Given the description of an element on the screen output the (x, y) to click on. 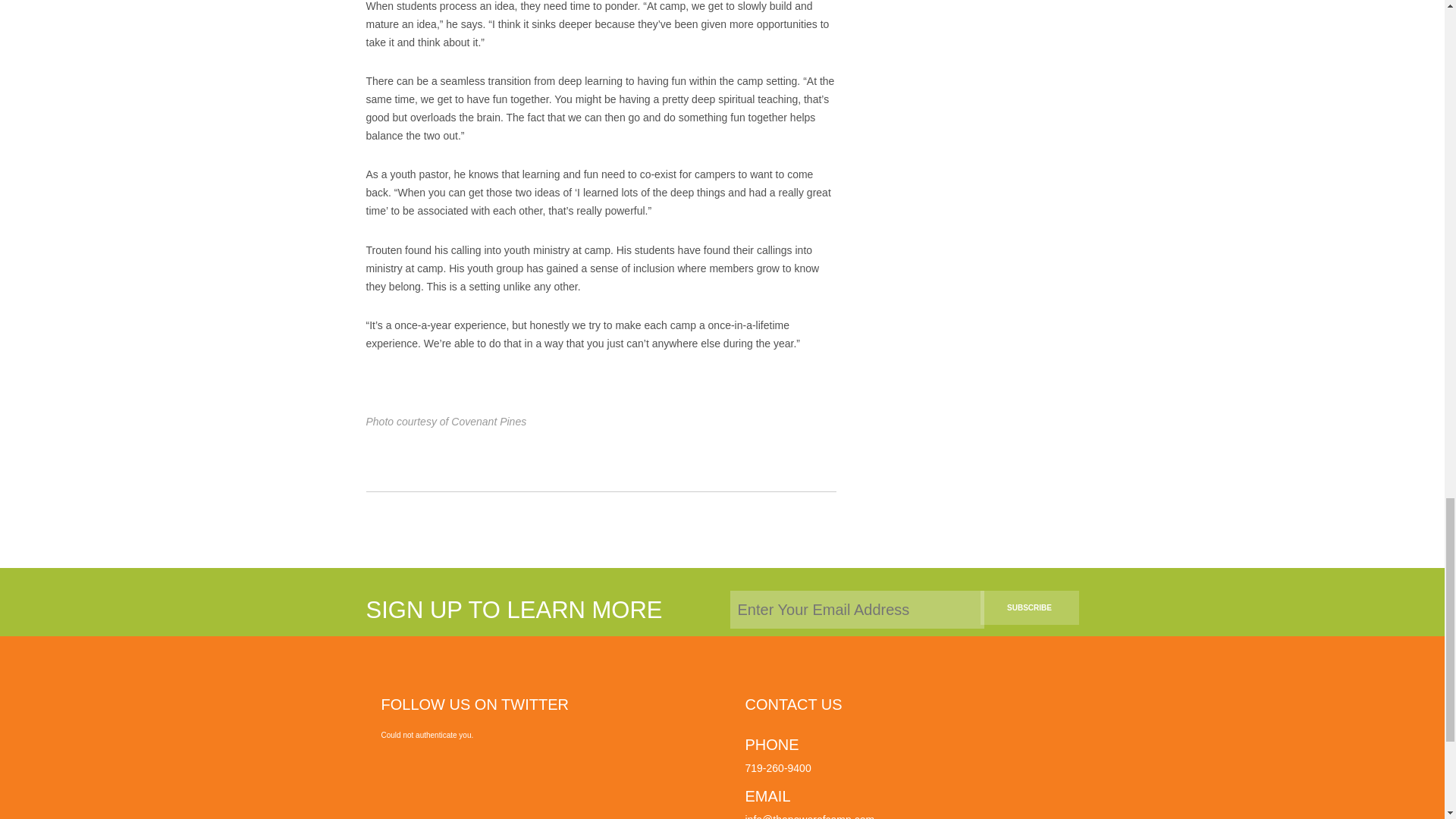
Subscribe (1028, 607)
Subscribe (1028, 607)
719-260-9400 (777, 767)
